Given the description of an element on the screen output the (x, y) to click on. 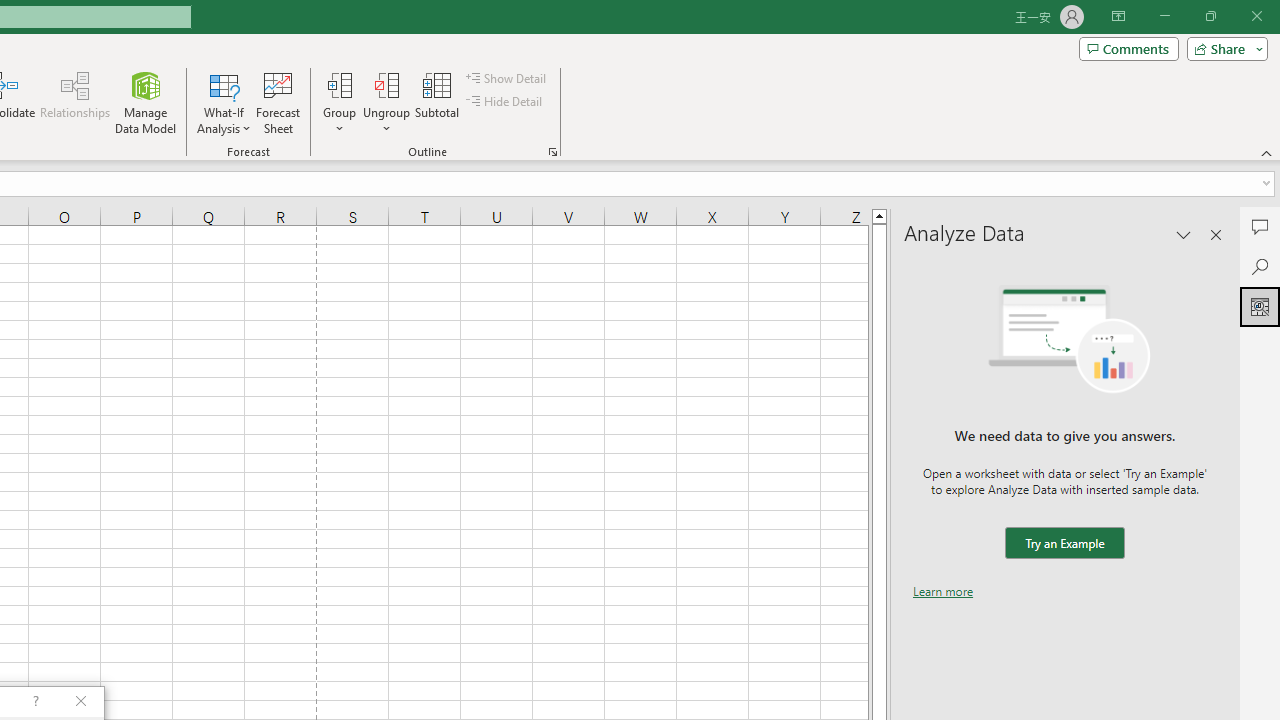
We need data to give you answers. Try an Example (1064, 543)
Show Detail (507, 78)
Manage Data Model (145, 102)
Group and Outline Settings (552, 151)
Learn more (943, 591)
